Given the description of an element on the screen output the (x, y) to click on. 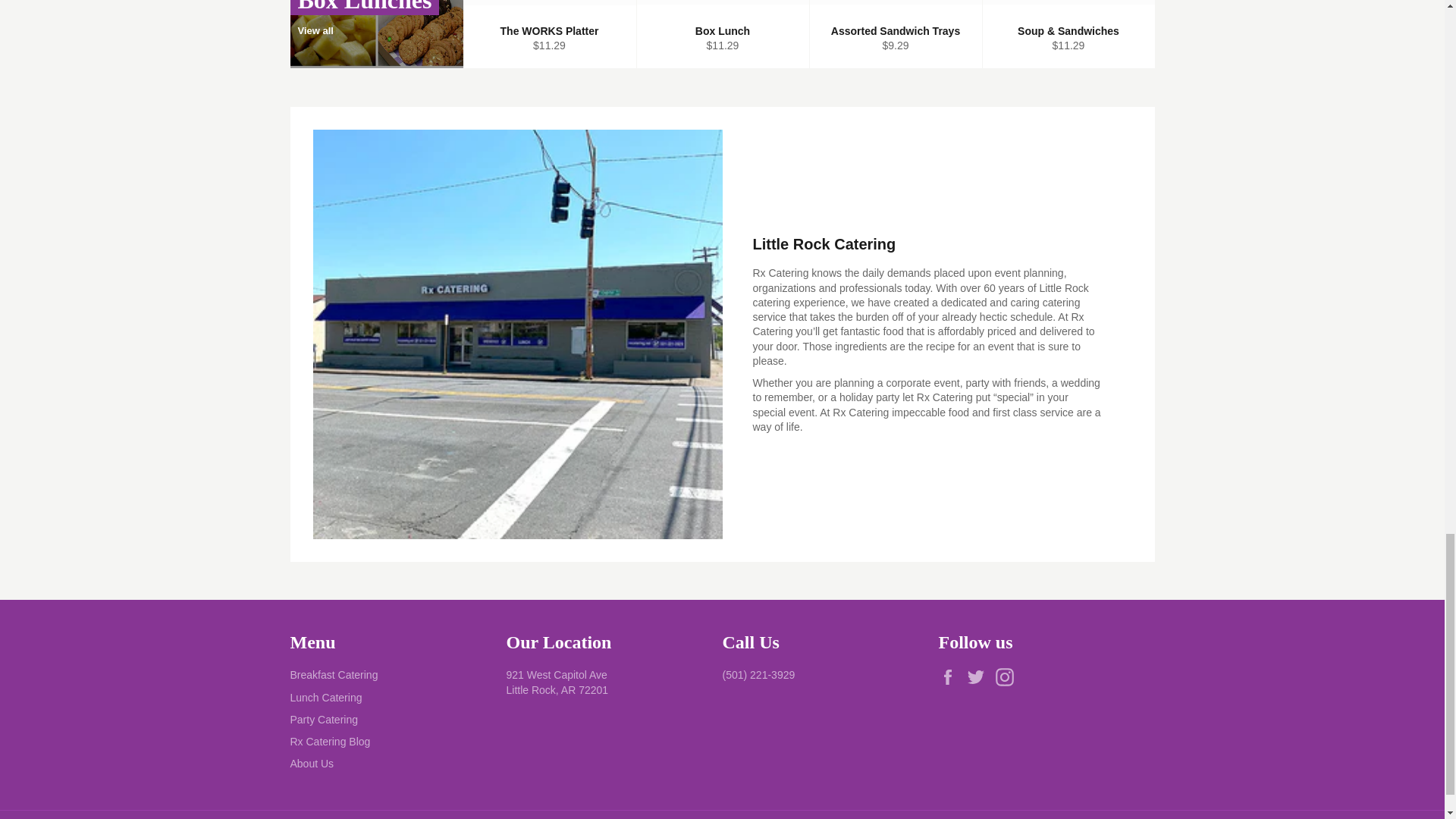
Rx Catering on Instagram (1008, 677)
Rx Catering on Twitter (979, 677)
Rx Catering on Facebook (951, 677)
